Given the description of an element on the screen output the (x, y) to click on. 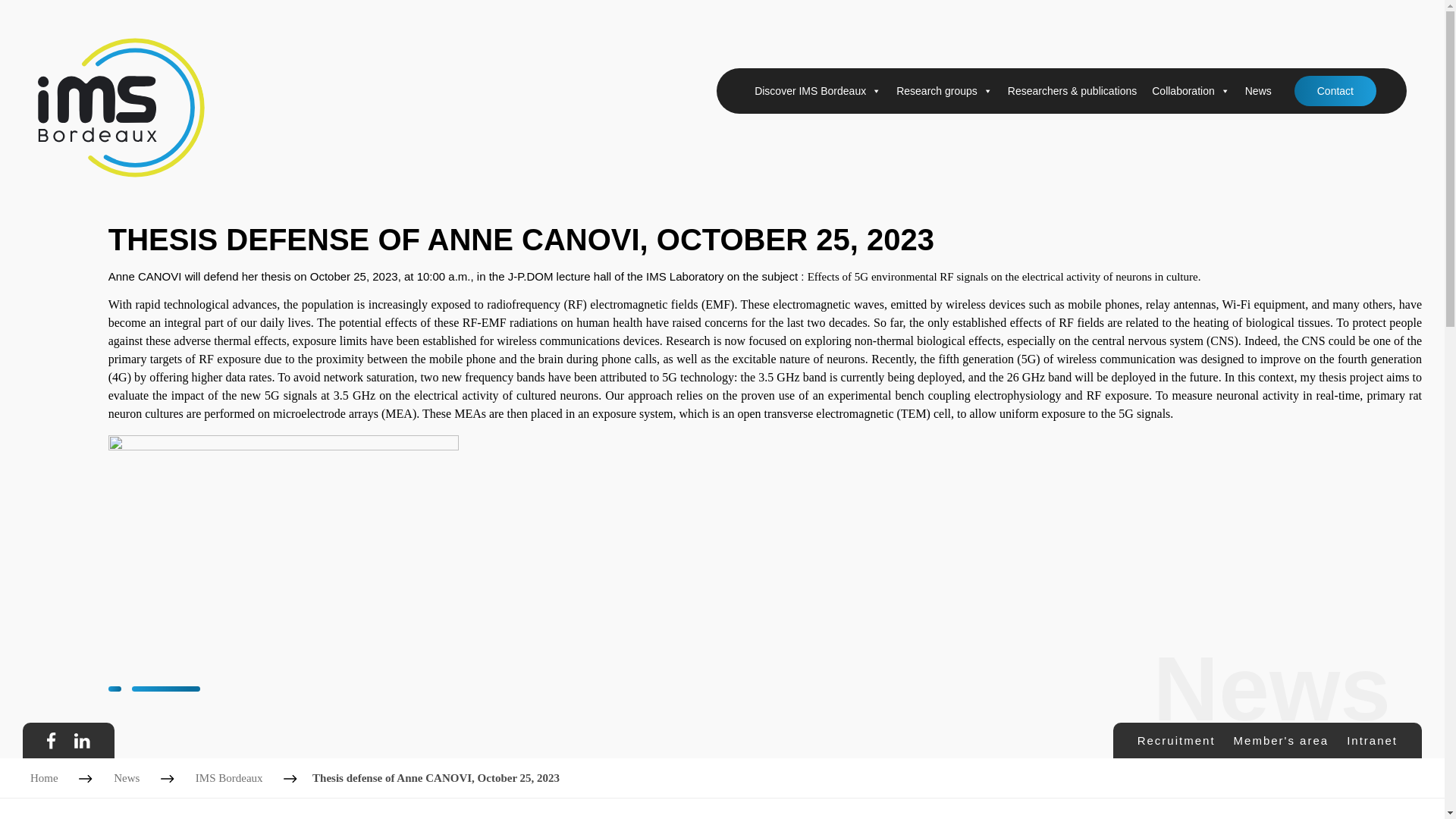
Thesis defense of Anne CANOVI, October 25, 2023 (436, 777)
Home (44, 777)
